Given the description of an element on the screen output the (x, y) to click on. 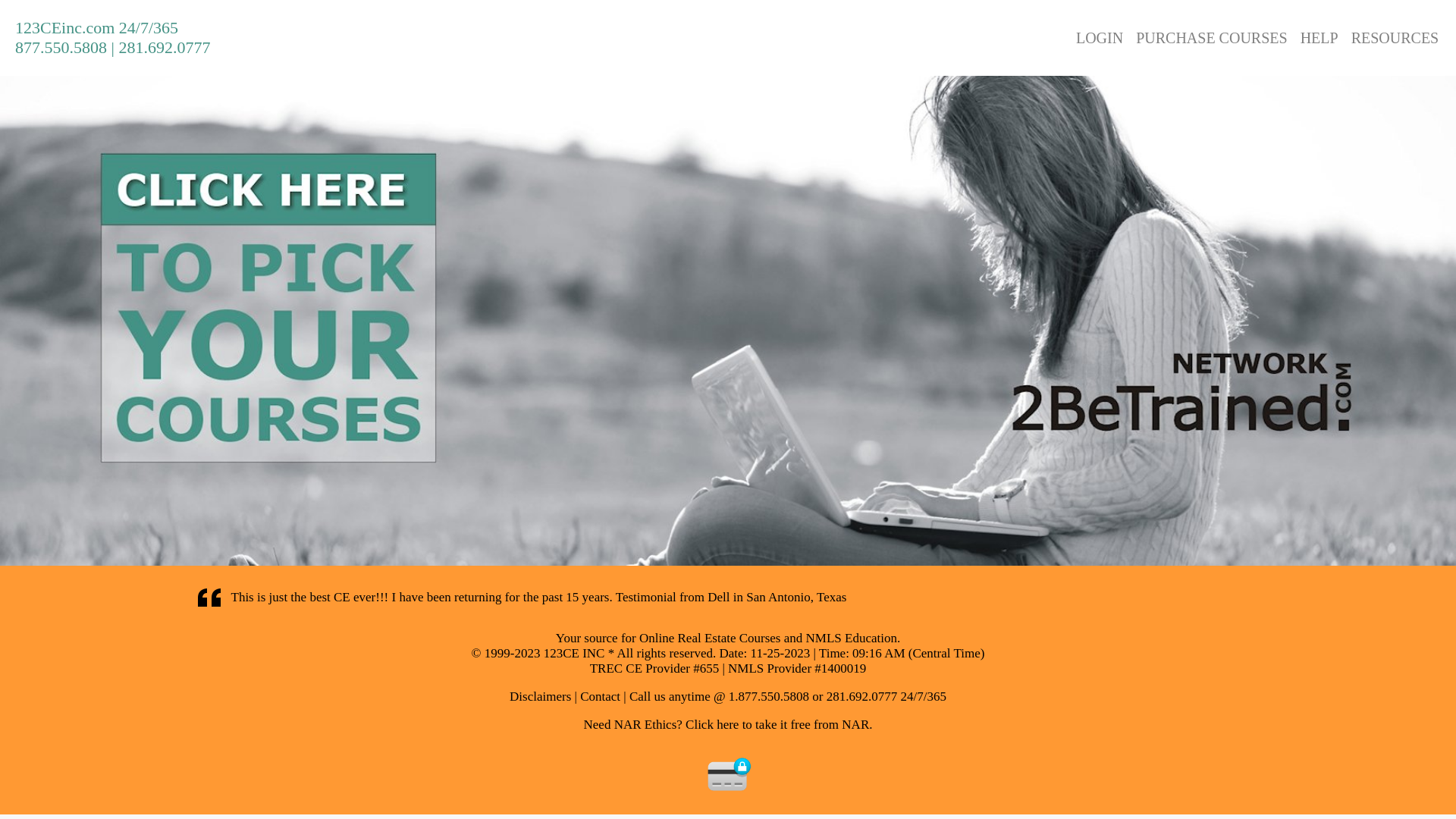
LOGIN Element type: text (1099, 36)
Contact Element type: text (600, 696)
RESOURCES Element type: text (1395, 36)
Need NAR Ethics? Click here to take it free from NAR. Element type: text (727, 724)
PURCHASE COURSES Element type: text (1211, 36)
Disclaimers Element type: text (540, 696)
eCommerce Tested. SSL Secured. Element type: hover (729, 773)
HELP Element type: text (1319, 36)
